Given the description of an element on the screen output the (x, y) to click on. 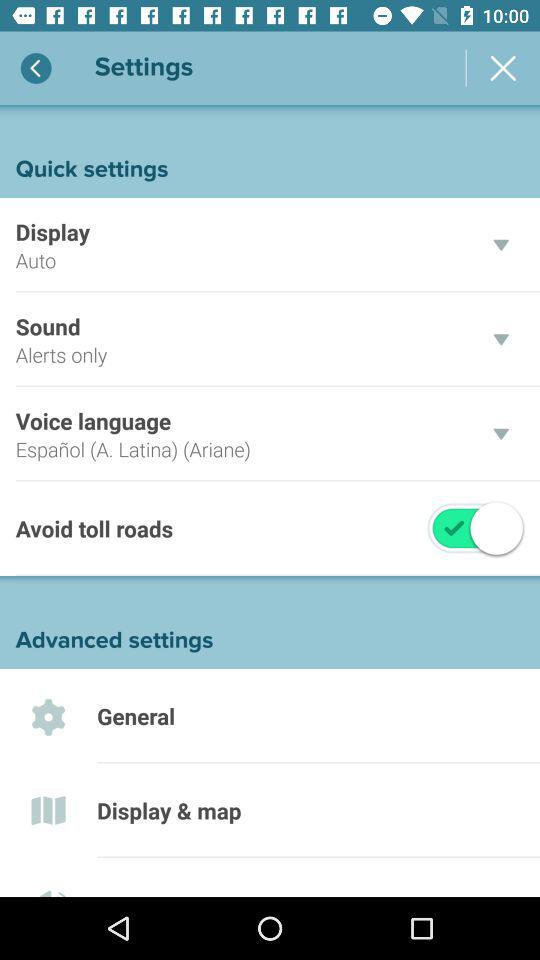
close settings menu (503, 67)
